Given the description of an element on the screen output the (x, y) to click on. 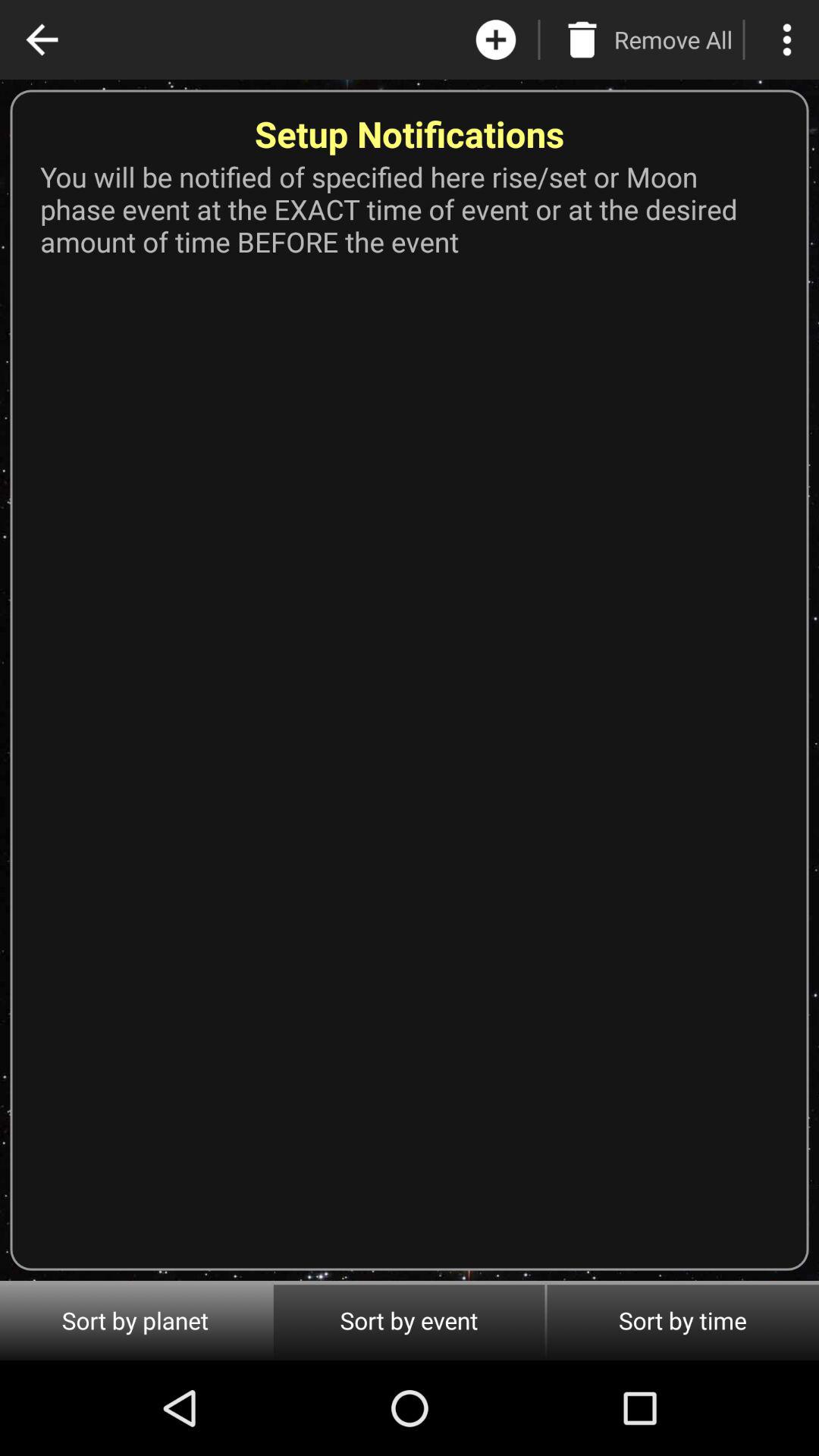
tap the app above you will be app (41, 39)
